Given the description of an element on the screen output the (x, y) to click on. 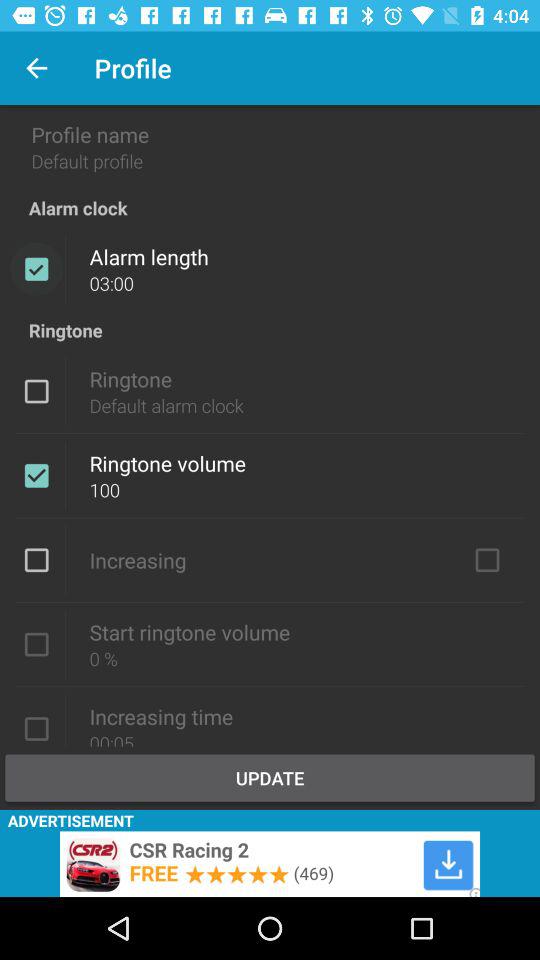
toggle ringtone (36, 391)
